Given the description of an element on the screen output the (x, y) to click on. 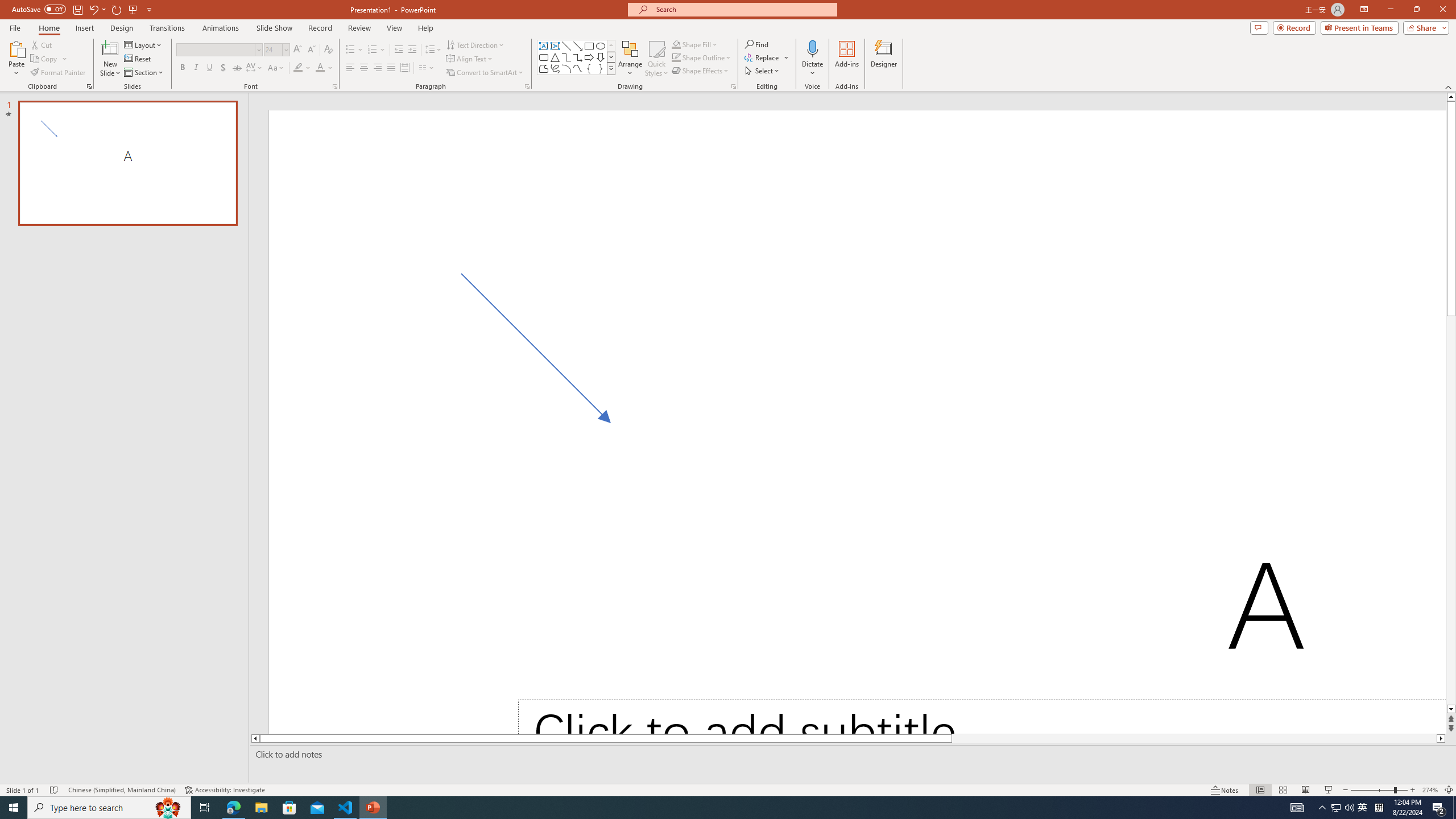
Zoom 274% (1430, 790)
